Given the description of an element on the screen output the (x, y) to click on. 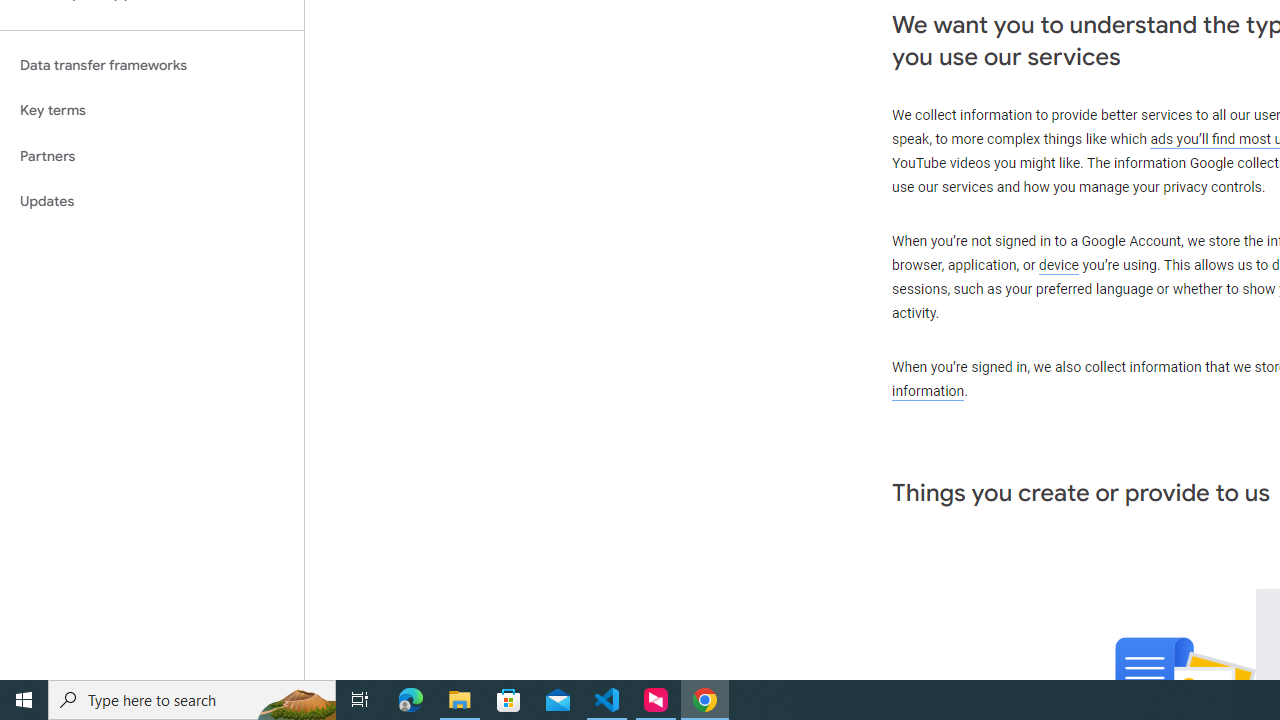
device (1059, 265)
